Given the description of an element on the screen output the (x, y) to click on. 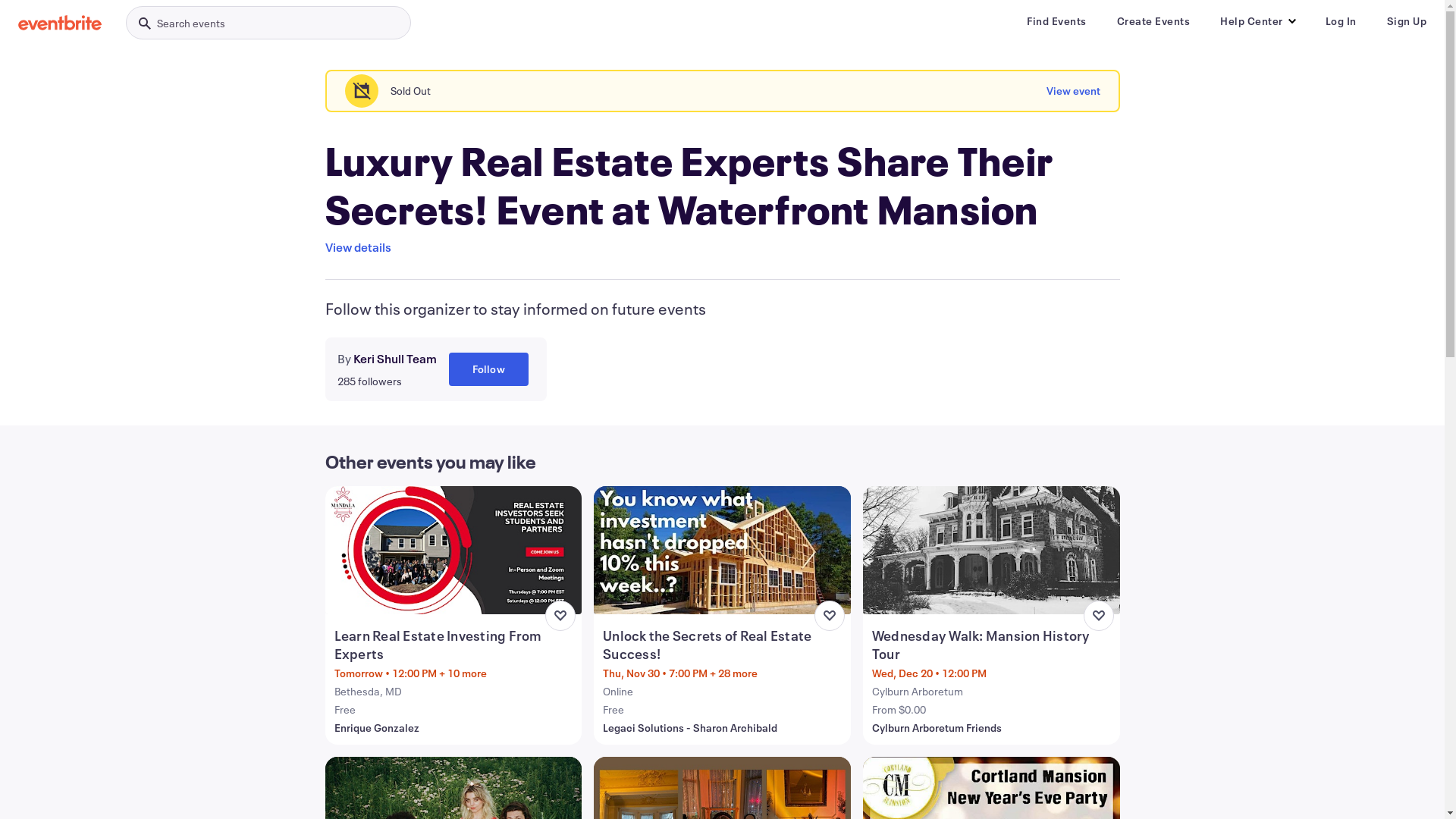
Log In Element type: text (1340, 21)
Sign Up Element type: text (1406, 21)
Search events Element type: text (268, 22)
Unlock the Secrets of Real Estate Success! Element type: text (723, 644)
Follow Element type: text (488, 368)
Eventbrite Element type: hover (59, 22)
View details Element type: text (357, 246)
Learn Real Estate Investing From Experts Element type: text (454, 644)
Find Events Element type: text (1056, 21)
View event Element type: text (1073, 90)
Wednesday Walk: Mansion History Tour Element type: text (992, 644)
Create Events Element type: text (1152, 21)
